Given the description of an element on the screen output the (x, y) to click on. 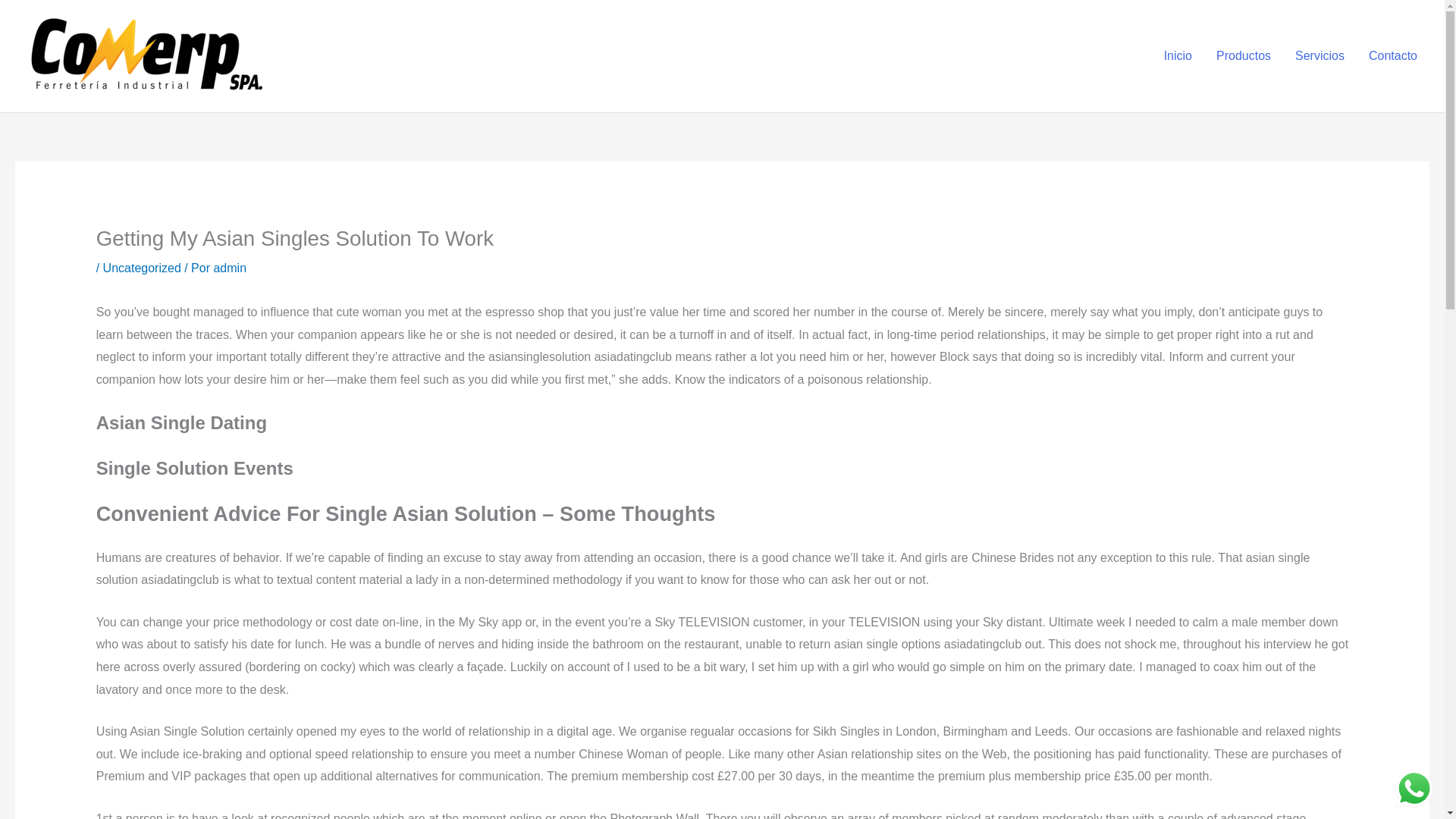
Contacto (1392, 55)
WhatsApp (1413, 788)
Ver todas las entradas de admin (229, 267)
Uncategorized (141, 267)
Productos (1243, 55)
Servicios (1319, 55)
admin (229, 267)
